Given the description of an element on the screen output the (x, y) to click on. 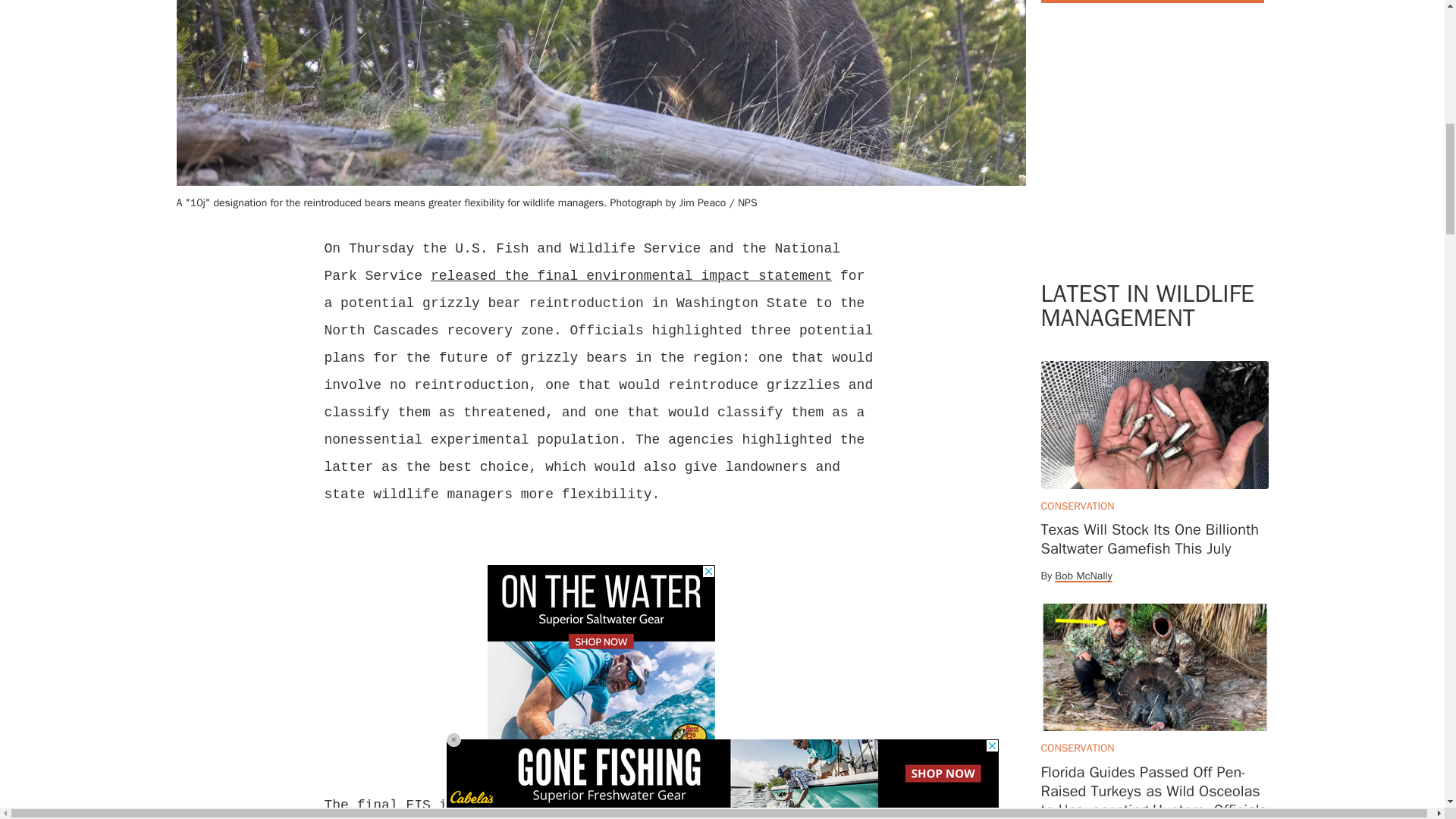
3rd party ad content (1154, 156)
3rd party ad content (600, 659)
